Given the description of an element on the screen output the (x, y) to click on. 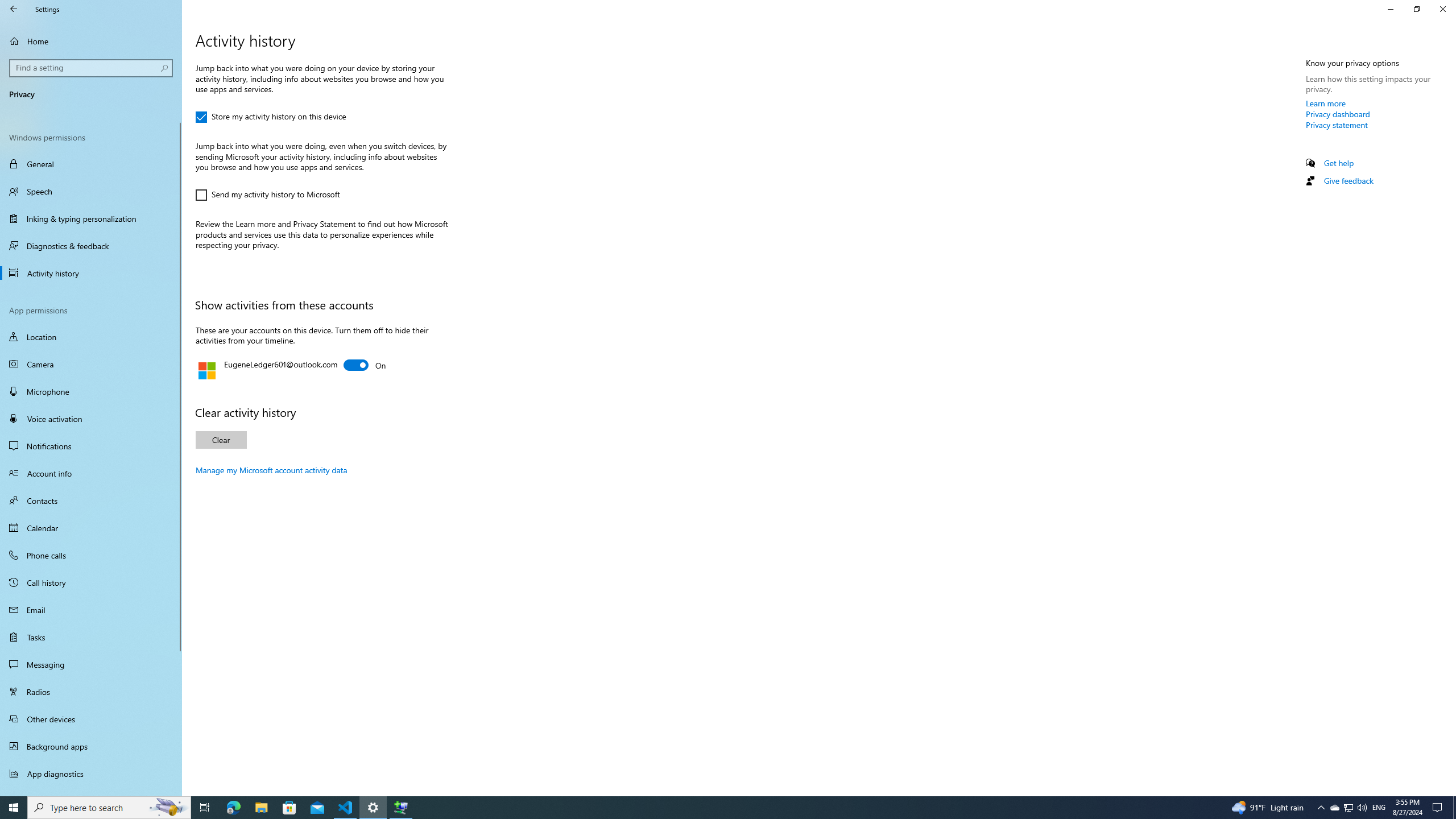
Location (91, 336)
Call history (91, 582)
Tasks (91, 636)
Notifications (91, 445)
App diagnostics (91, 773)
Microphone (91, 390)
Calendar (91, 527)
Email (91, 609)
Privacy statement (1336, 124)
Speech (91, 190)
